Given the description of an element on the screen output the (x, y) to click on. 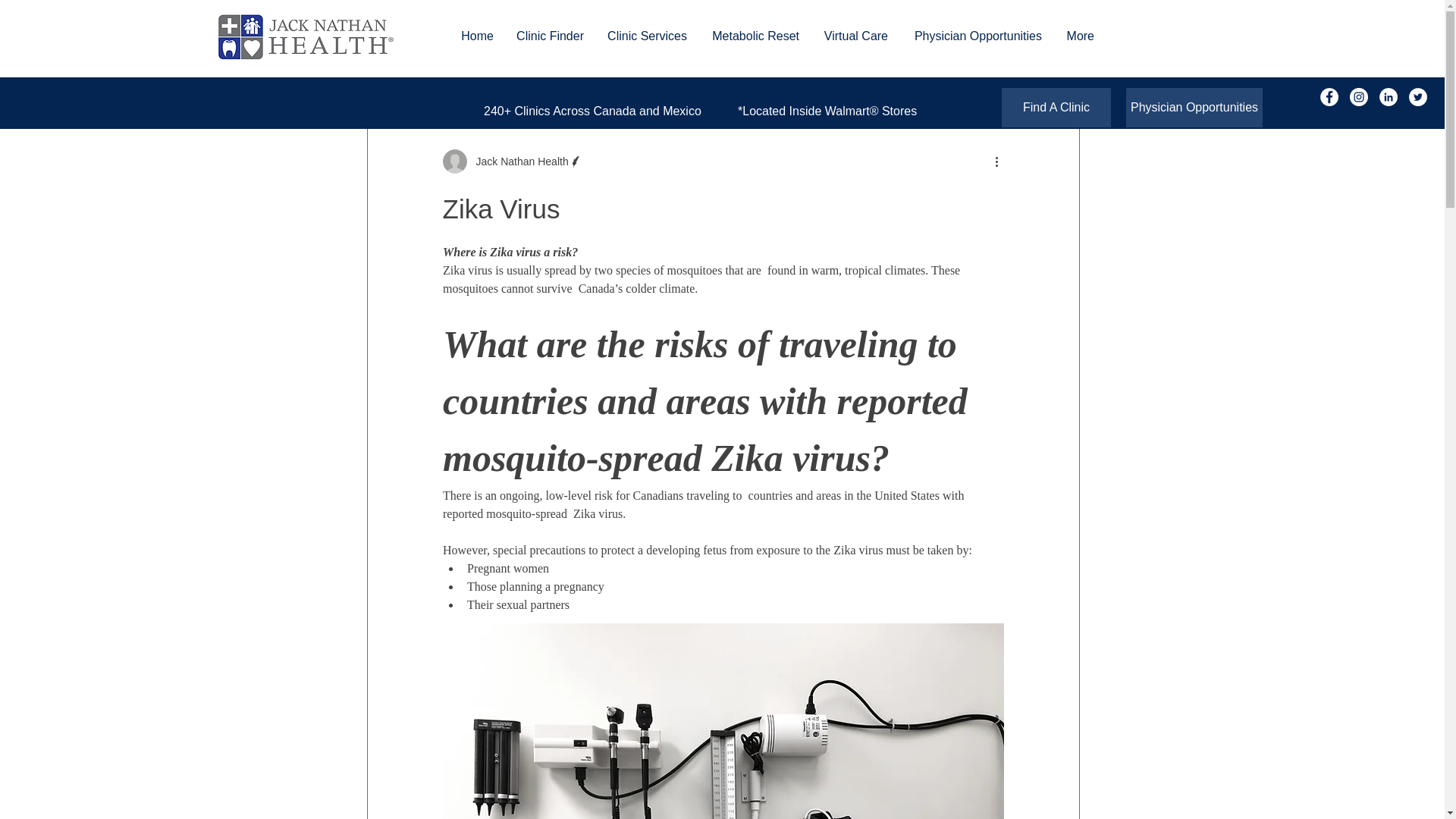
Physician Opportunities (1193, 107)
Home (475, 36)
Physician Opportunities (975, 36)
Clinic Finder (550, 36)
Find A Clinic (1055, 107)
Metabolic Reset (754, 36)
Jack Nathan Health (518, 160)
Jack Nathan Health (512, 161)
Virtual Care (854, 36)
